Given the description of an element on the screen output the (x, y) to click on. 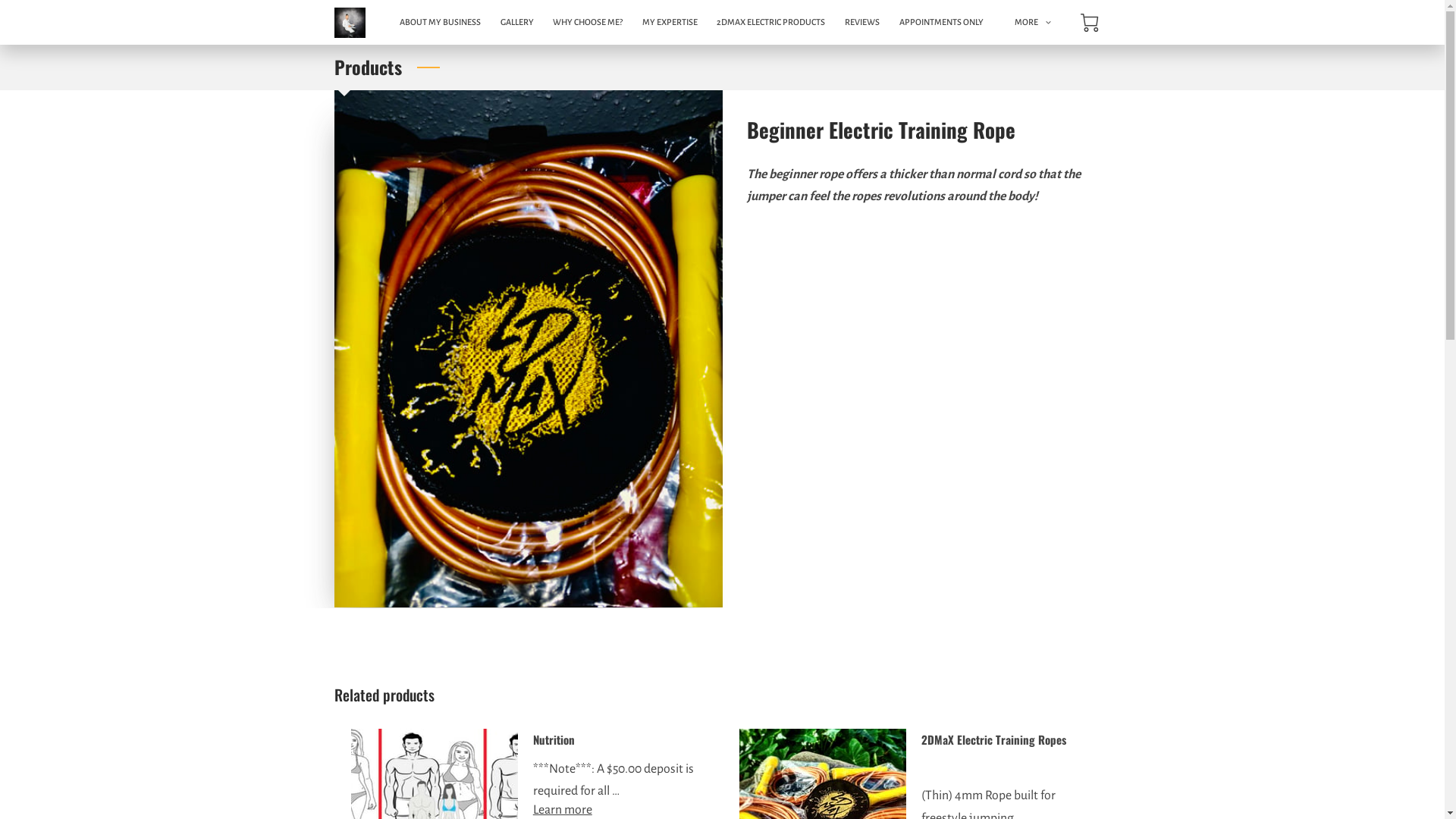
0 Element type: text (1088, 22)
ABOUT MY BUSINESS Element type: text (439, 22)
Nutrition Element type: text (553, 739)
2DMAX ELECTRIC PRODUCTS Element type: text (771, 22)
2DMaX Electric Training Ropes Element type: text (993, 739)
REVIEWS Element type: text (861, 22)
MY EXPERTISE Element type: text (669, 22)
WHY CHOOSE ME? Element type: text (587, 22)
APPOINTMENTS ONLY Element type: text (941, 22)
Learn more Element type: text (562, 809)
GALLERY Element type: text (516, 22)
